Given the description of an element on the screen output the (x, y) to click on. 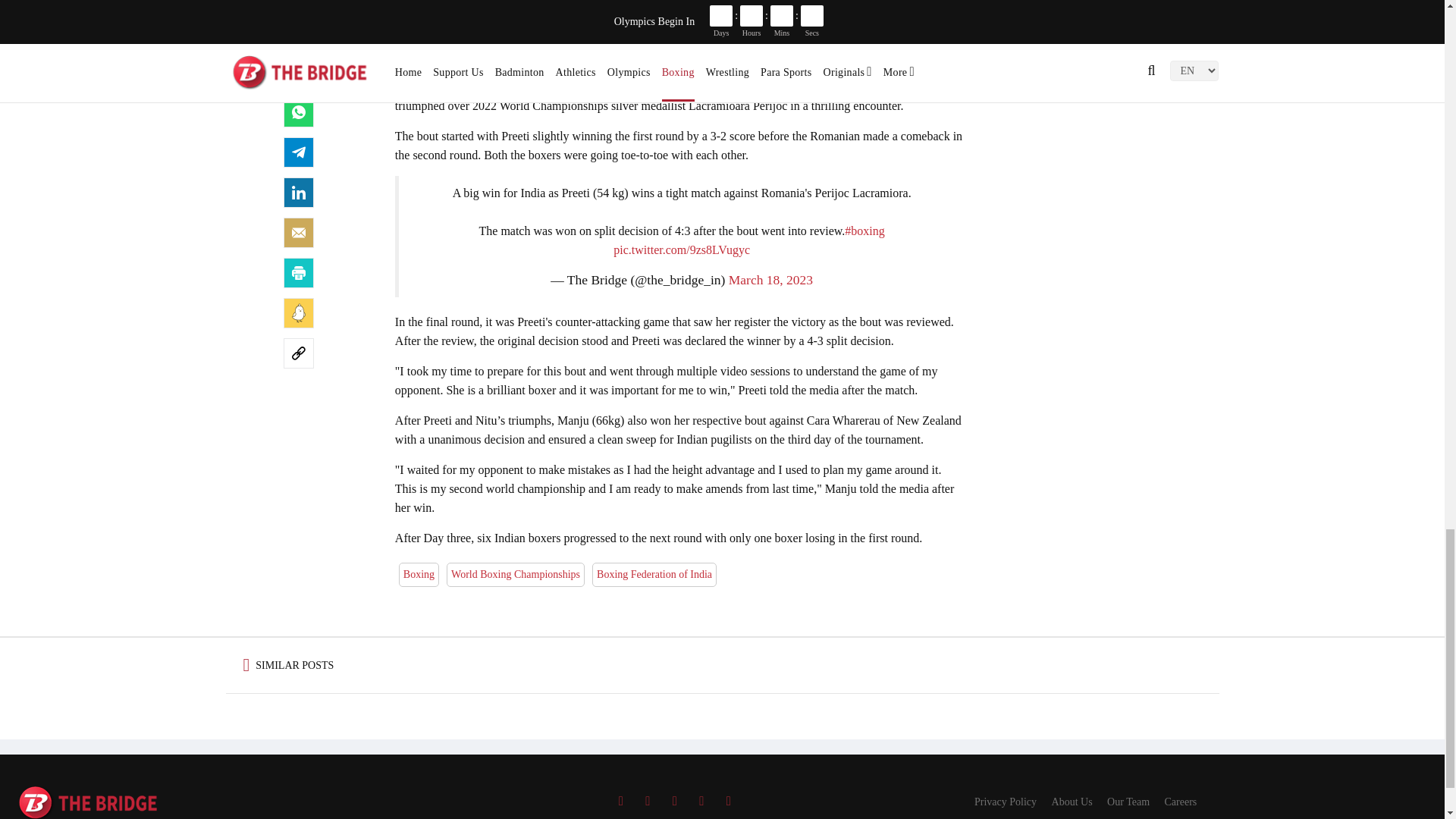
LinkedIn (298, 192)
Share by Email (298, 232)
